Given the description of an element on the screen output the (x, y) to click on. 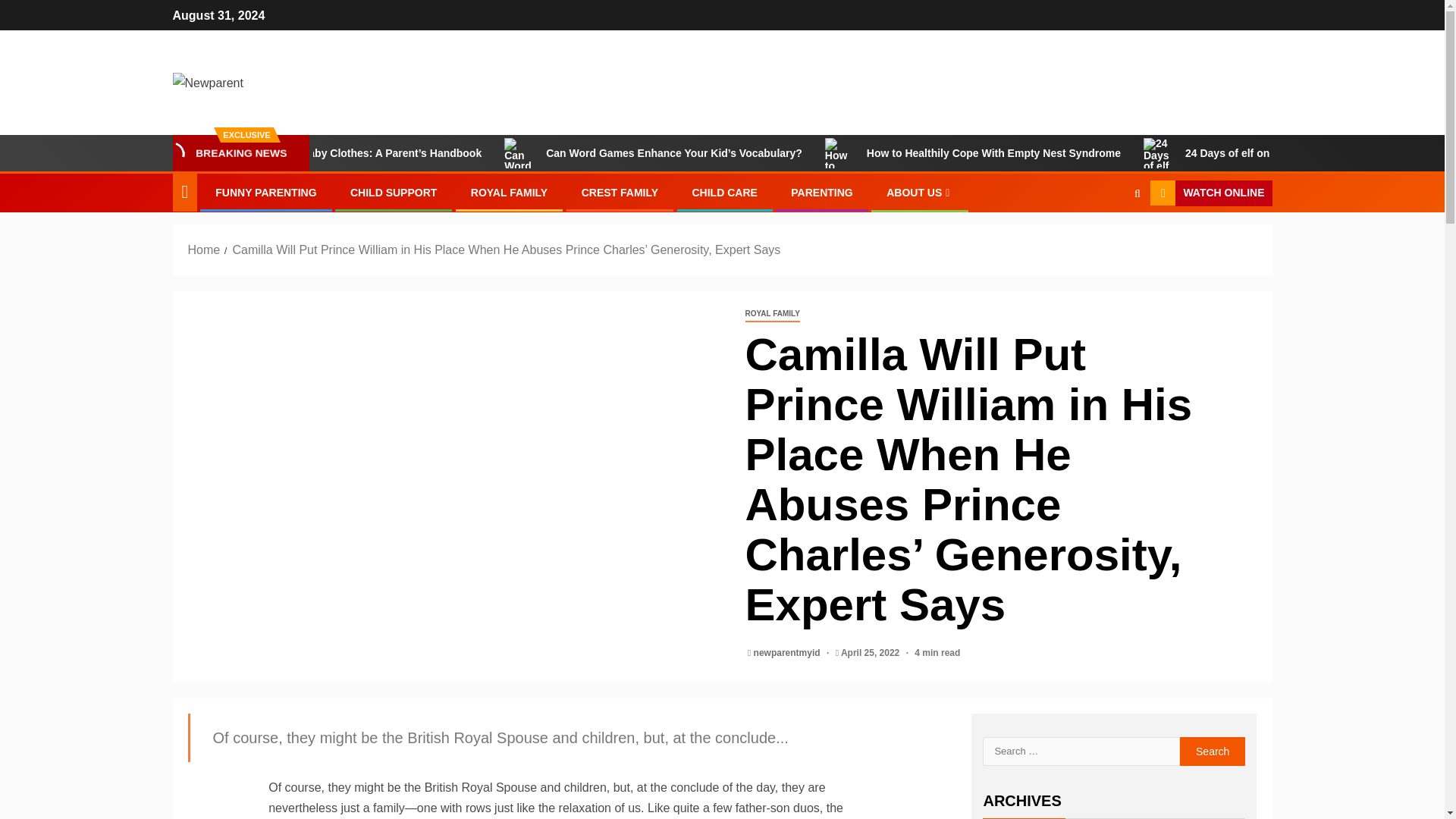
FUNNY PARENTING (265, 192)
ROYAL FAMILY (508, 192)
WATCH ONLINE (1210, 193)
Search (1212, 751)
CREST FAMILY (619, 192)
ABOUT US (919, 192)
How to Healthily Cope With Empty Nest Syndrome (1189, 153)
PARENTING (820, 192)
Search (1107, 238)
CHILD CARE (724, 192)
